Given the description of an element on the screen output the (x, y) to click on. 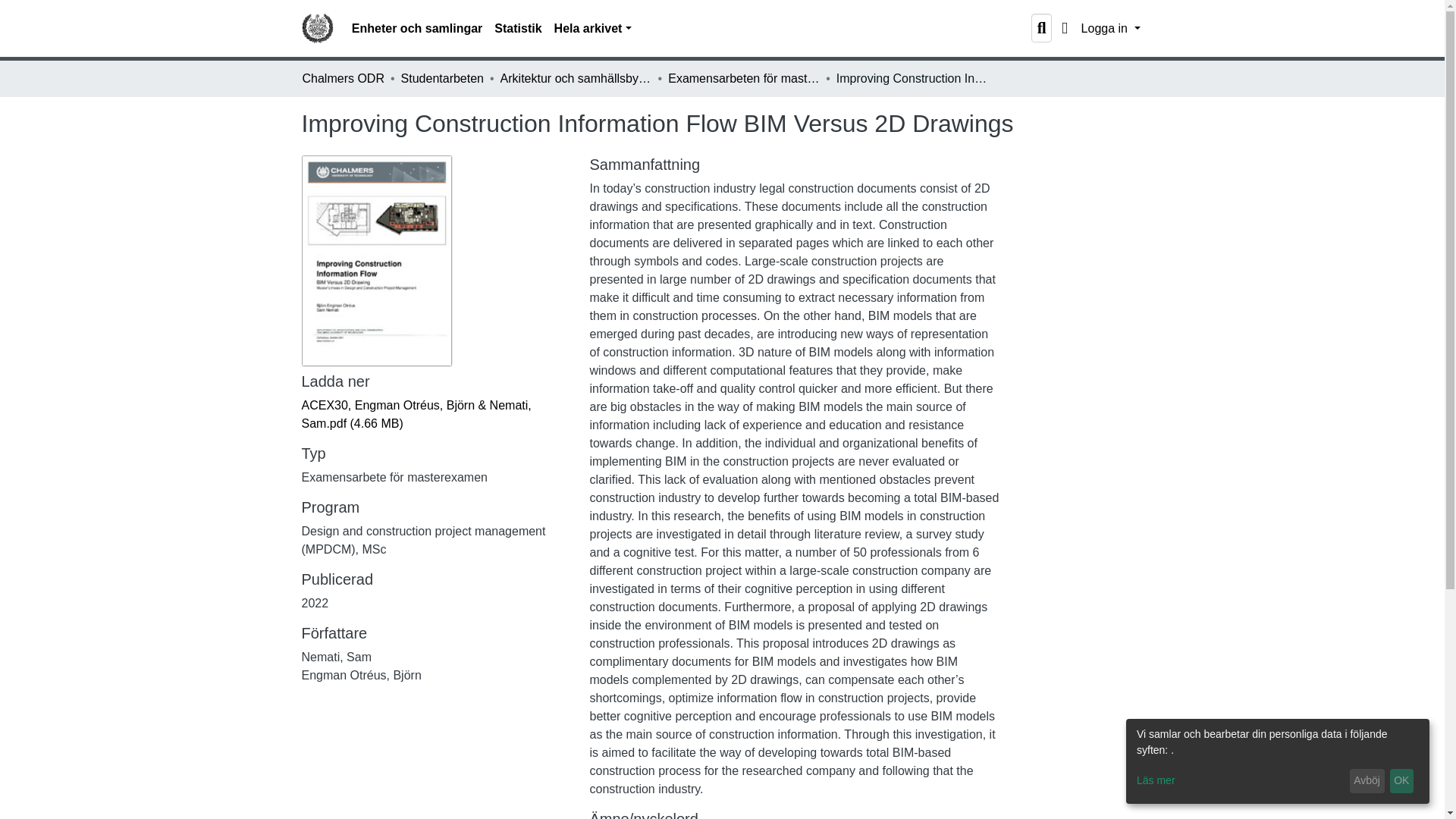
Statistik (517, 28)
Statistik (517, 28)
Logga in (1110, 28)
Chalmers ODR (342, 78)
Hela arkivet (592, 28)
Studentarbeten (442, 78)
Enheter och samlingar (417, 28)
OK (1401, 781)
Enheter och samlingar (417, 28)
